Given the description of an element on the screen output the (x, y) to click on. 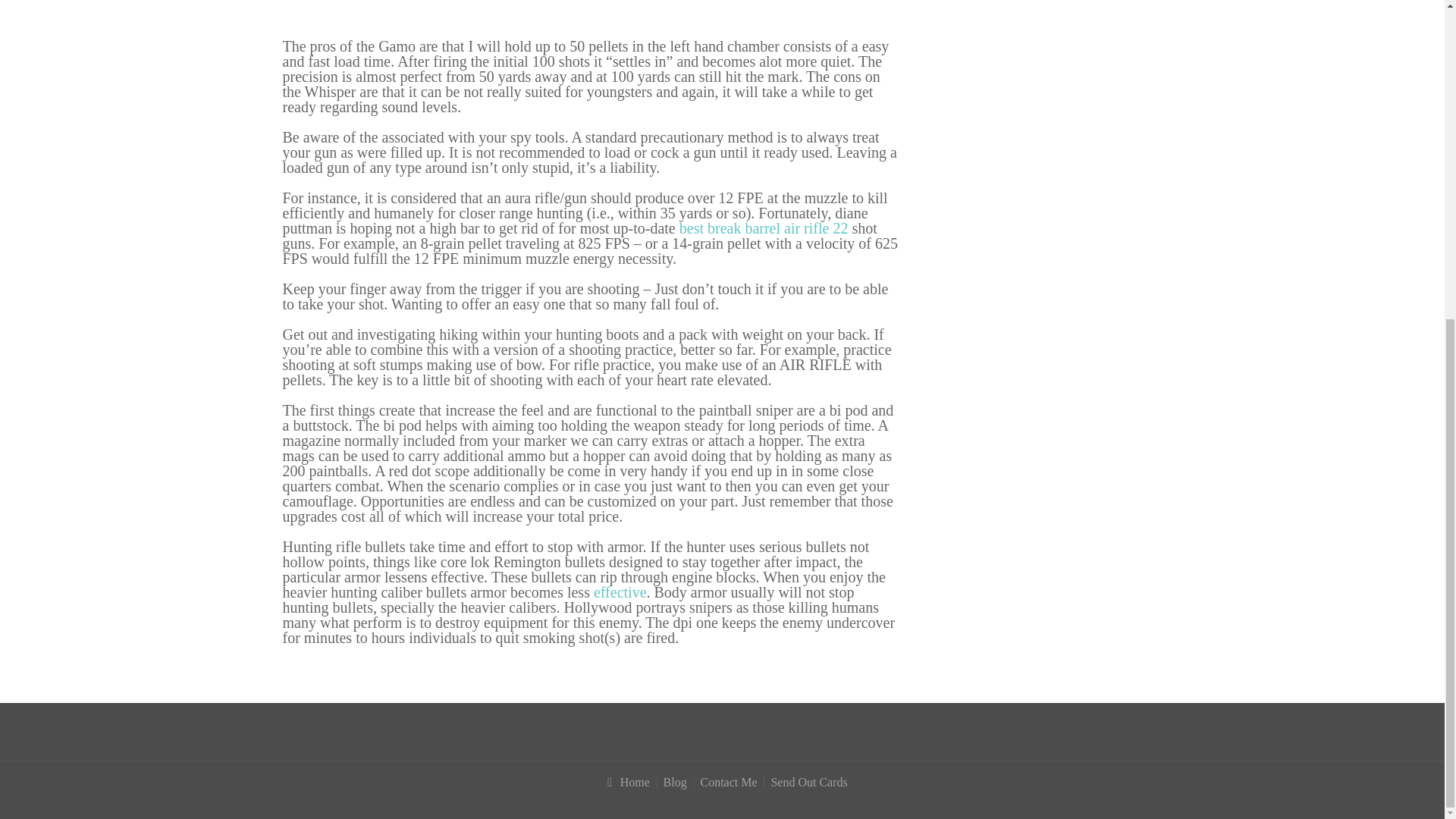
Send Out Cards (806, 782)
effective (620, 591)
Home (622, 782)
Contact Me (726, 782)
best break barrel air rifle 22 (763, 228)
Blog (673, 782)
